Given the description of an element on the screen output the (x, y) to click on. 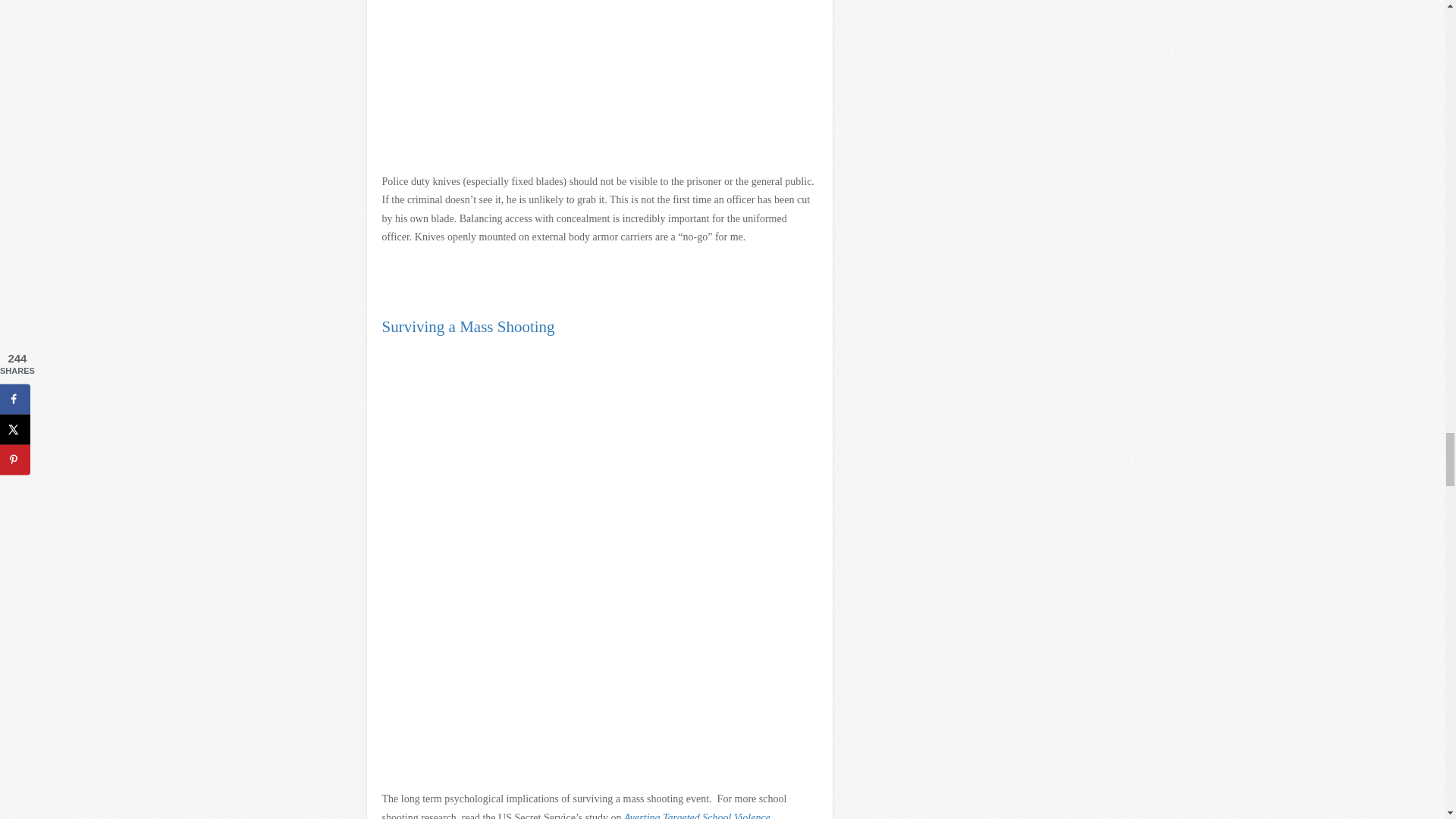
Averting Targeted School Violence (697, 815)
Surviving a Mass Shooting (467, 326)
